Given the description of an element on the screen output the (x, y) to click on. 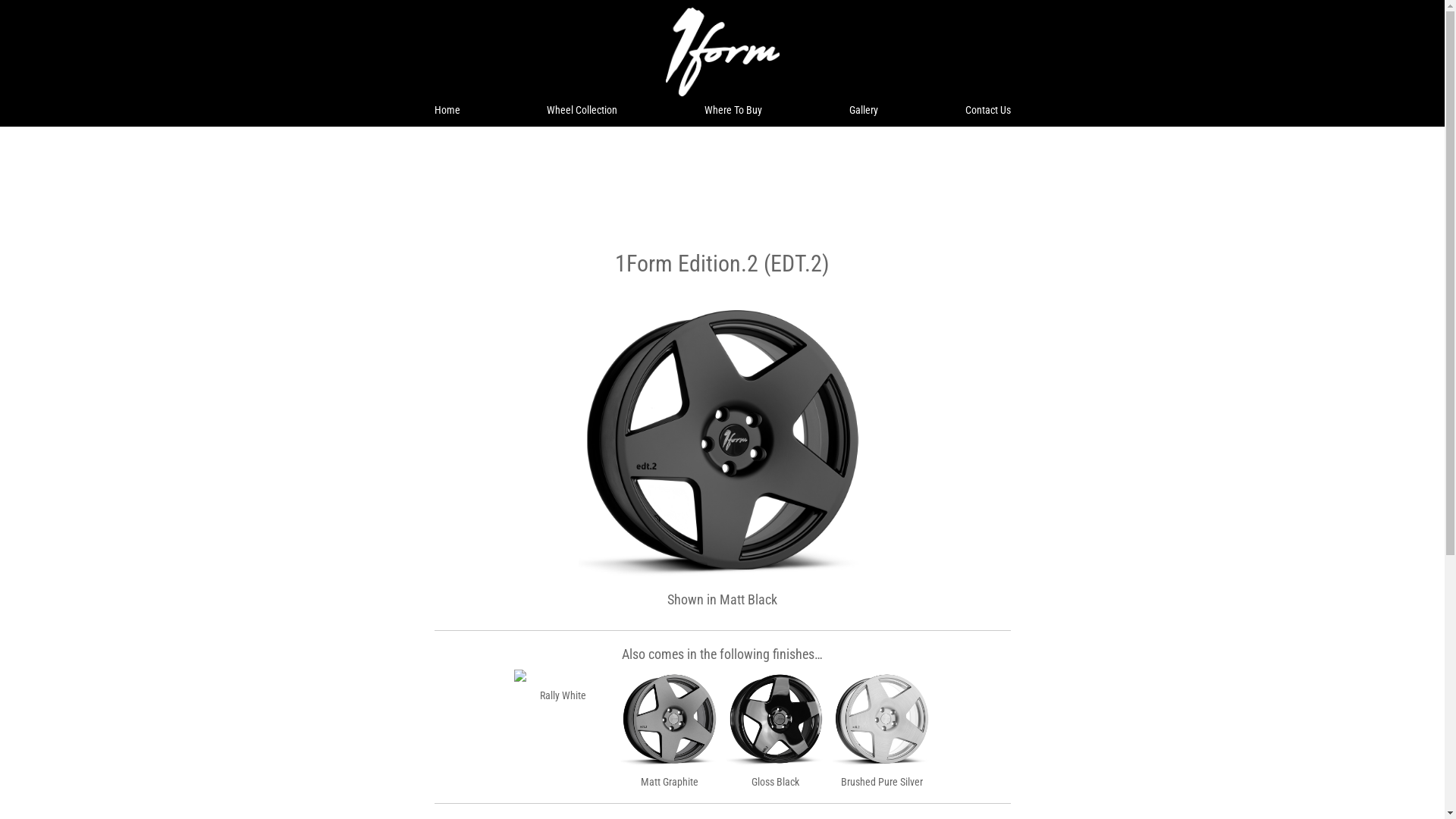
Matt Graphite Element type: text (669, 728)
Gloss Black Element type: text (775, 728)
Gallery Element type: text (863, 109)
Home Element type: text (446, 109)
Rally White Element type: text (563, 685)
Contact Us Element type: text (987, 109)
Where To Buy Element type: text (733, 109)
Wheel Collection Element type: text (581, 109)
Brushed Pure Silver Element type: text (881, 728)
